Given the description of an element on the screen output the (x, y) to click on. 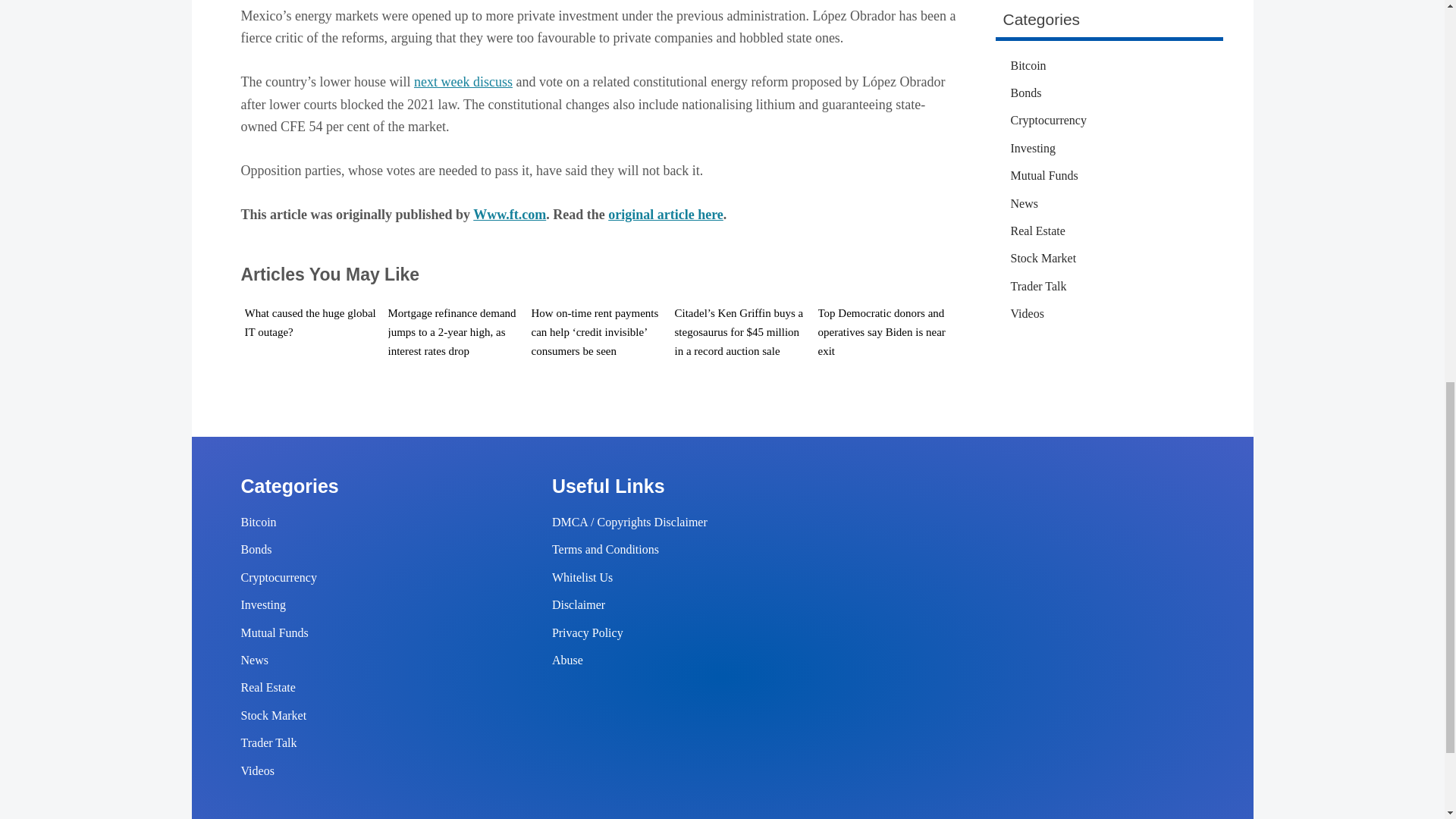
Www.ft.com (509, 214)
original article here (665, 214)
next week discuss (462, 81)
